Given the description of an element on the screen output the (x, y) to click on. 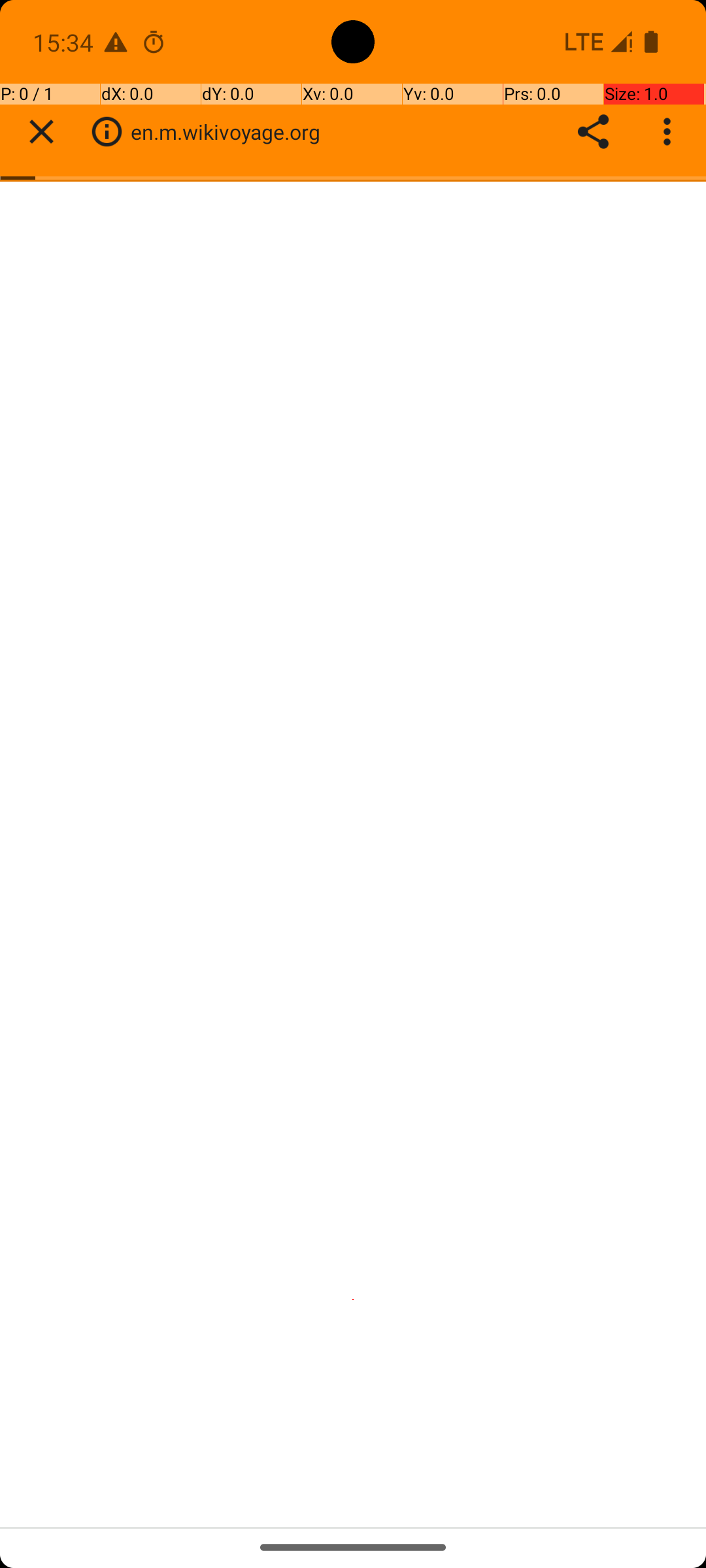
en.m.wikivoyage.org Element type: android.widget.TextView (232, 131)
